Given the description of an element on the screen output the (x, y) to click on. 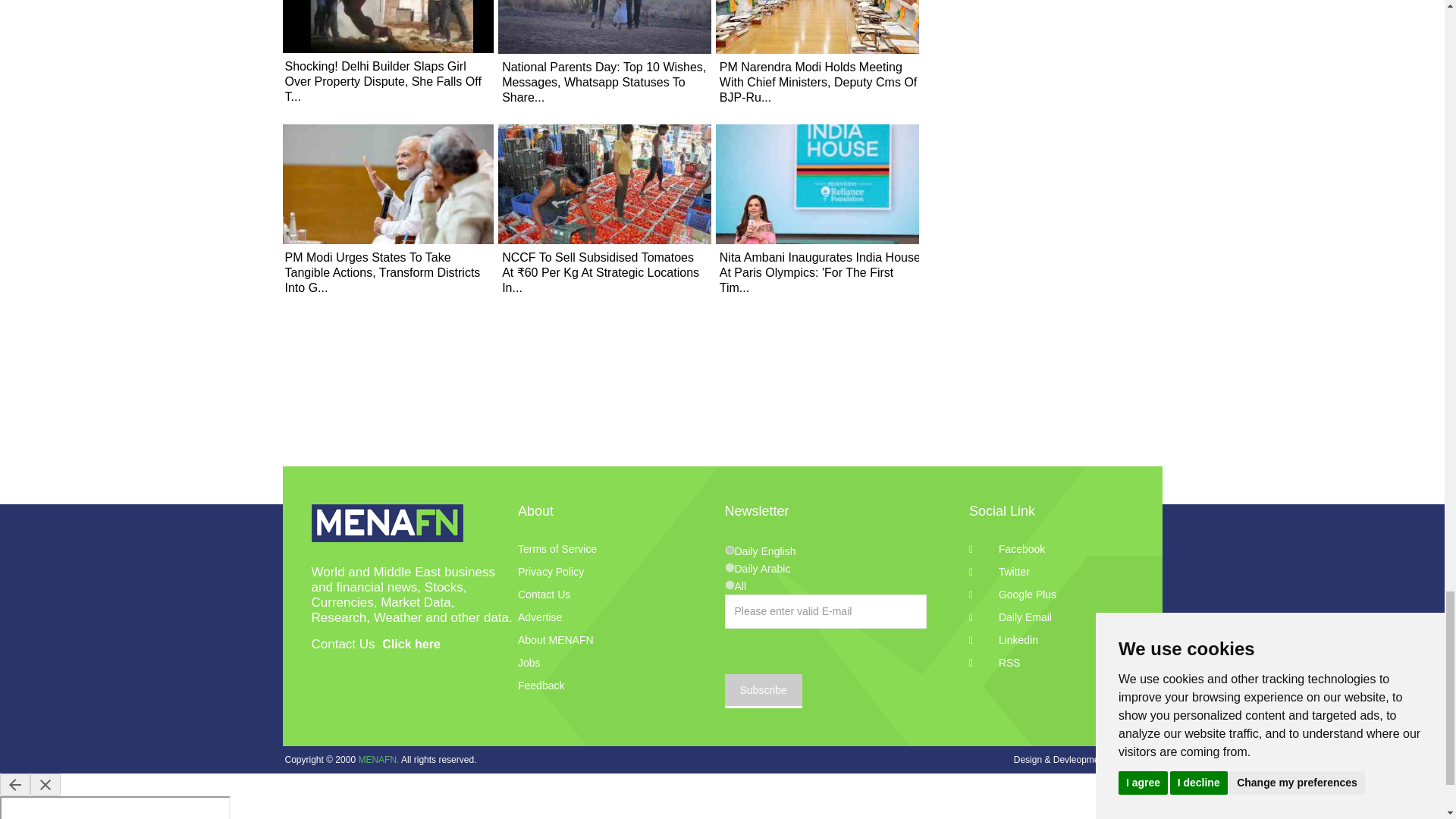
Subscribe (763, 691)
